Given the description of an element on the screen output the (x, y) to click on. 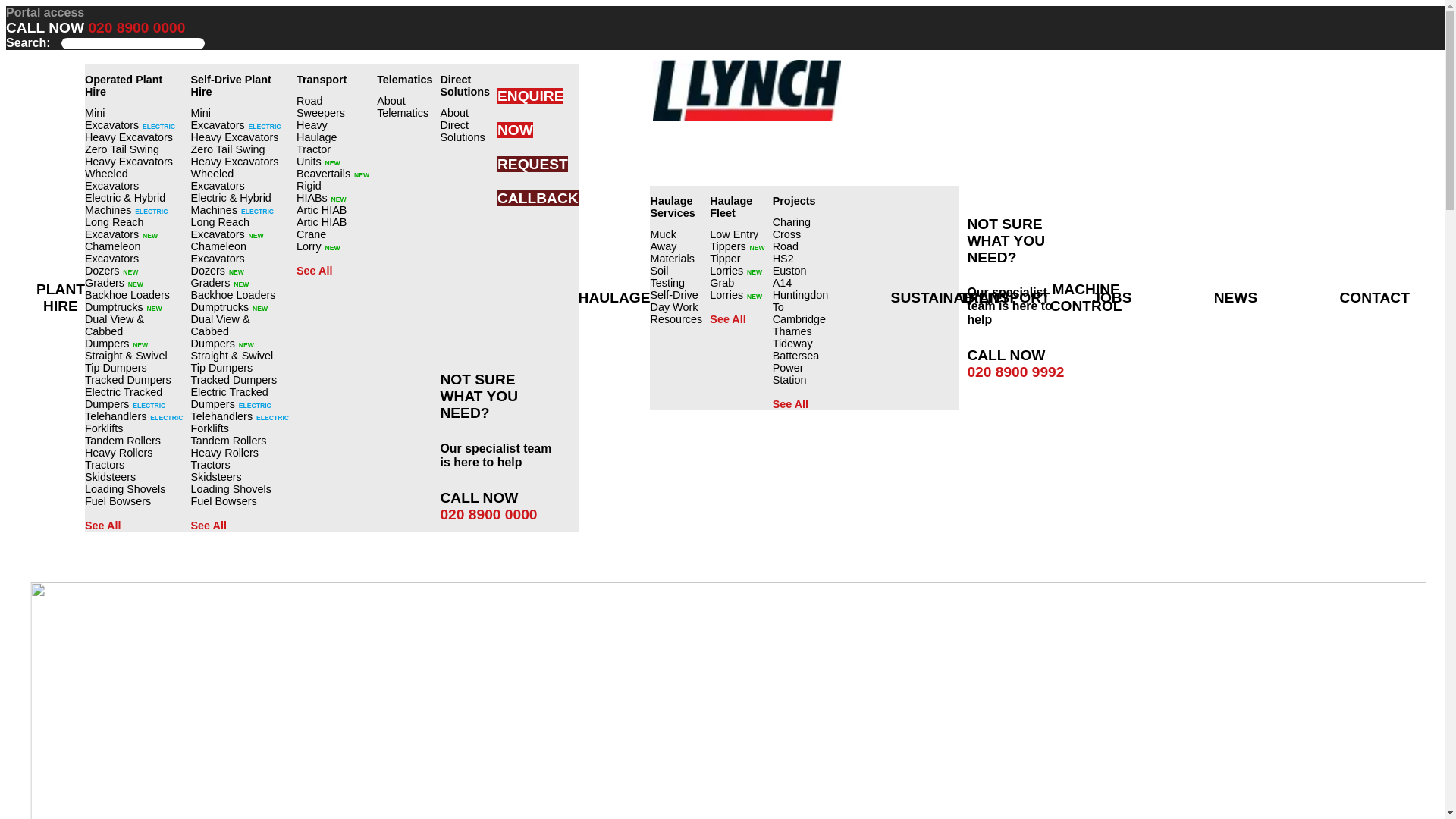
See All (133, 525)
Wheeled Excavators (239, 179)
Long Reach Excavators (239, 228)
Electric Tracked Dumpers (133, 397)
Tractors (133, 464)
Long Reach Excavators (133, 228)
Zero Tail Swing Heavy Excavators (133, 155)
Self-Drive Plant Hire (239, 85)
Fuel Bowsers (133, 500)
Tandem Rollers (133, 440)
Dumptrucks (133, 306)
Heavy Rollers (133, 452)
Zero Tail Swing Heavy Excavators (239, 155)
Wheeled Excavators (133, 179)
PLANT HIRE (60, 297)
